Given the description of an element on the screen output the (x, y) to click on. 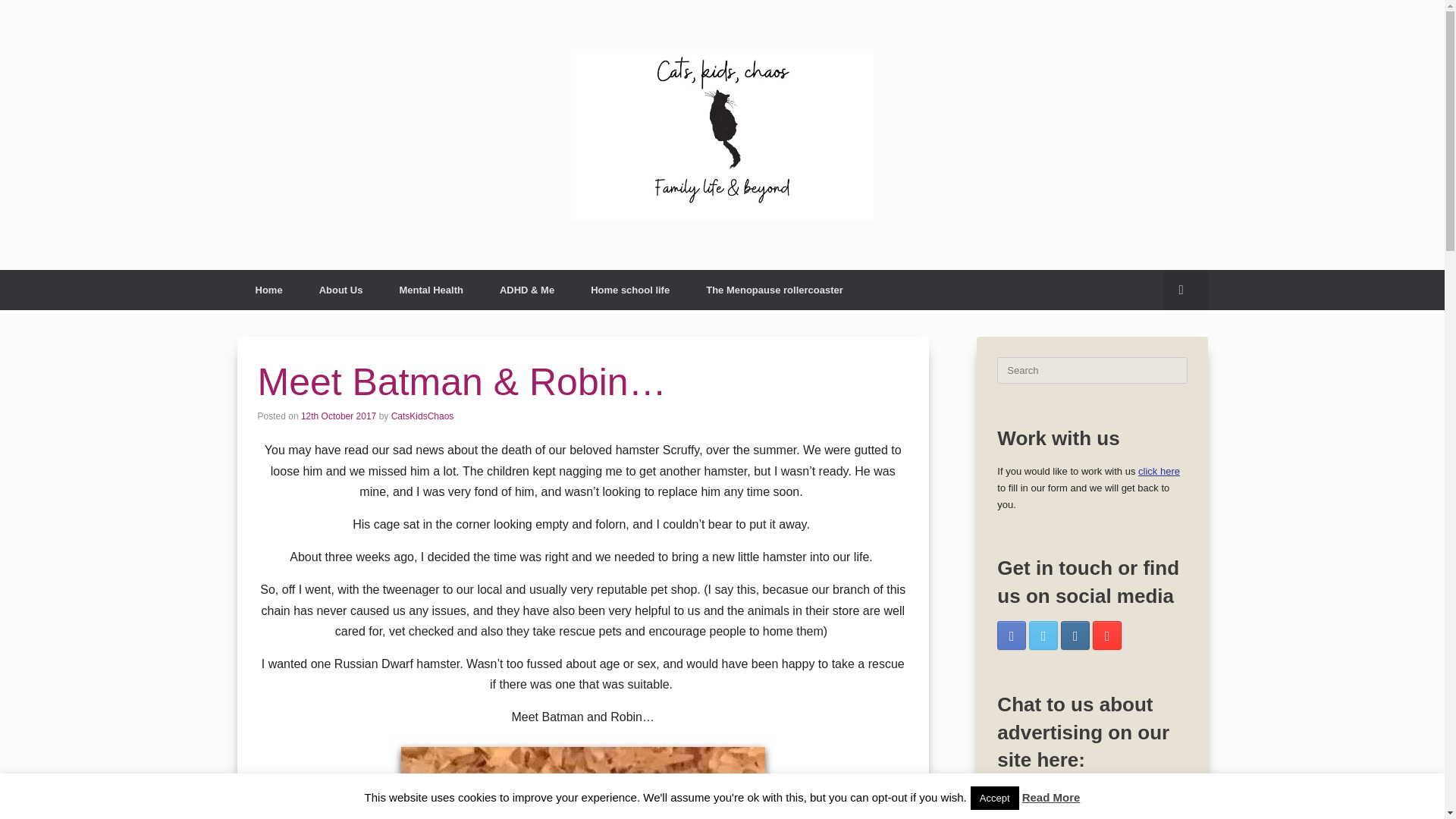
CatsKidsChaos Facebook (1011, 635)
The Menopause rollercoaster (774, 290)
12:41 pm (338, 416)
Home (267, 290)
Mental Health (430, 290)
View all posts by CatsKidsChaos (422, 416)
12th October 2017 (338, 416)
click here (1158, 471)
Home school life (629, 290)
CatsKidsChaos (422, 416)
CatsKidsChaos Pinterest (1107, 635)
CatsKidsChaos Instagram (1075, 635)
About Us (341, 290)
